Given the description of an element on the screen output the (x, y) to click on. 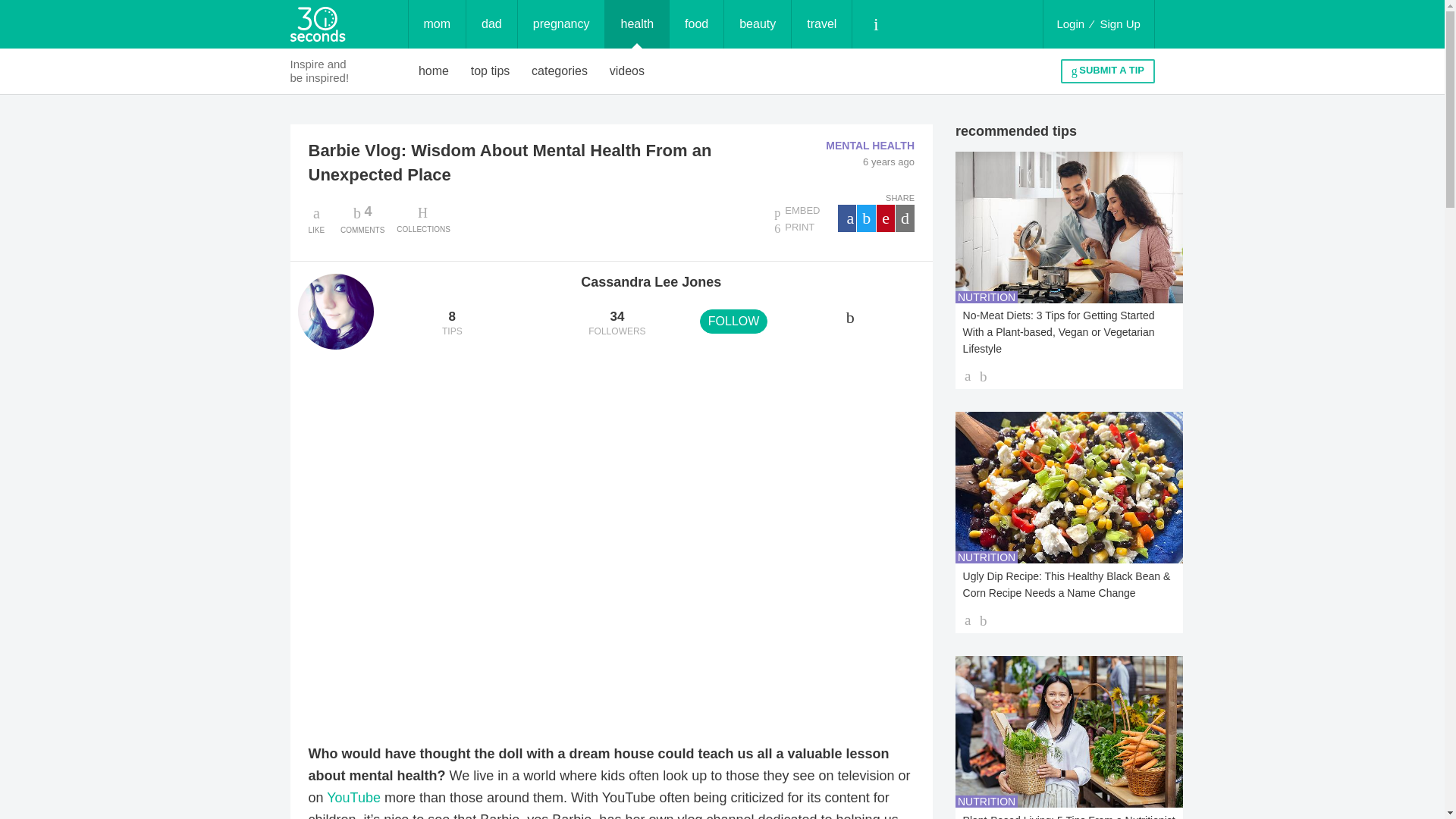
top tips (489, 71)
home (433, 71)
mom (436, 24)
categories (559, 71)
dad (490, 24)
pregnancy (561, 24)
health (636, 24)
Sign Up (1120, 23)
Login (1069, 23)
beauty (362, 218)
travel (756, 24)
food (821, 24)
